Given the description of an element on the screen output the (x, y) to click on. 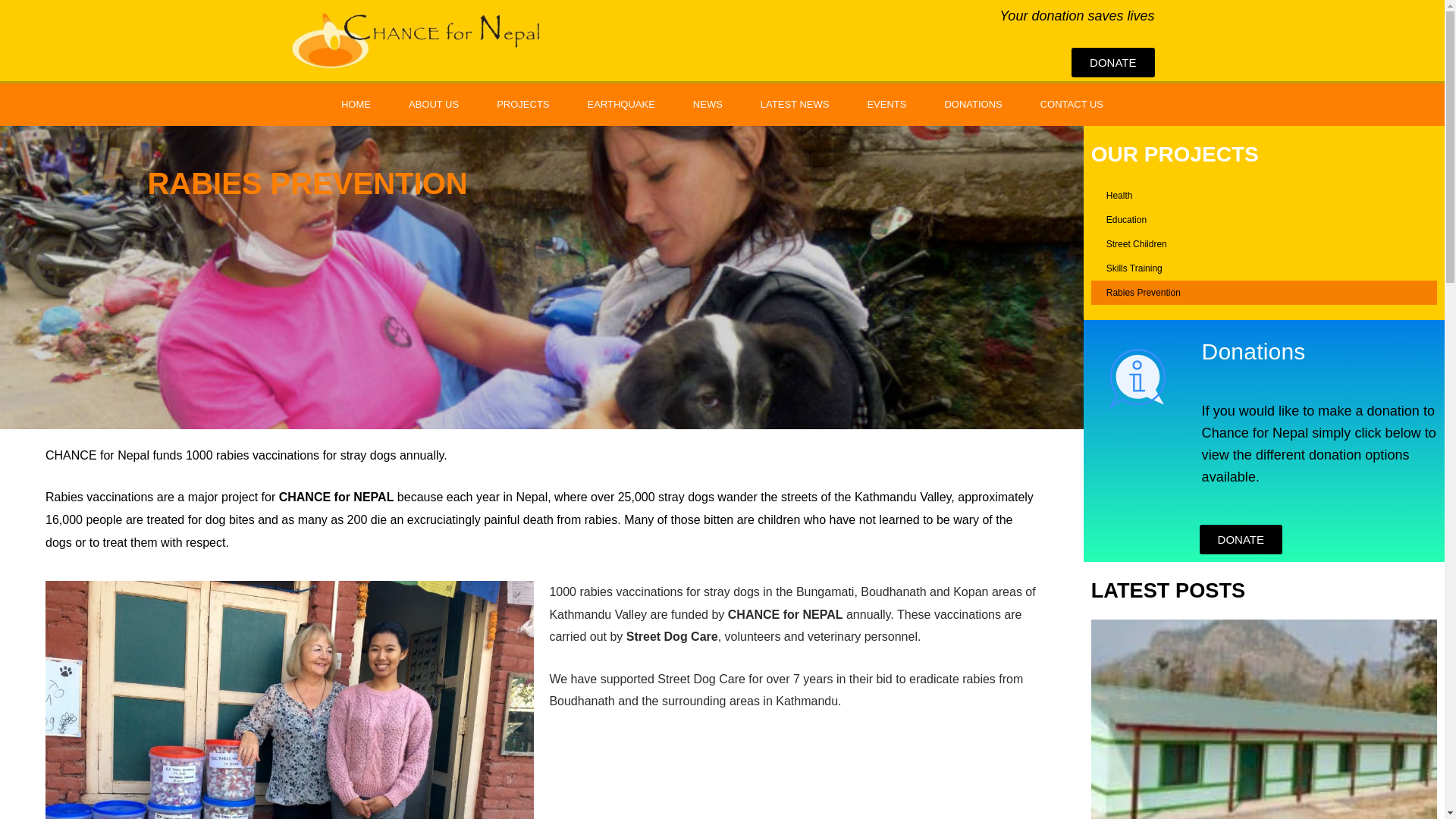
PROJECTS (522, 104)
NEWS (707, 104)
CONTACT US (1072, 104)
Street Children (1263, 243)
DONATIONS (972, 104)
ABOUT US (433, 104)
HOME (355, 104)
LATEST NEWS (794, 104)
Education (1263, 219)
Skills Training (1263, 268)
DONATE (1112, 61)
Rabies Prevention (1263, 292)
EVENTS (885, 104)
Health (1263, 195)
EARTHQUAKE (621, 104)
